Given the description of an element on the screen output the (x, y) to click on. 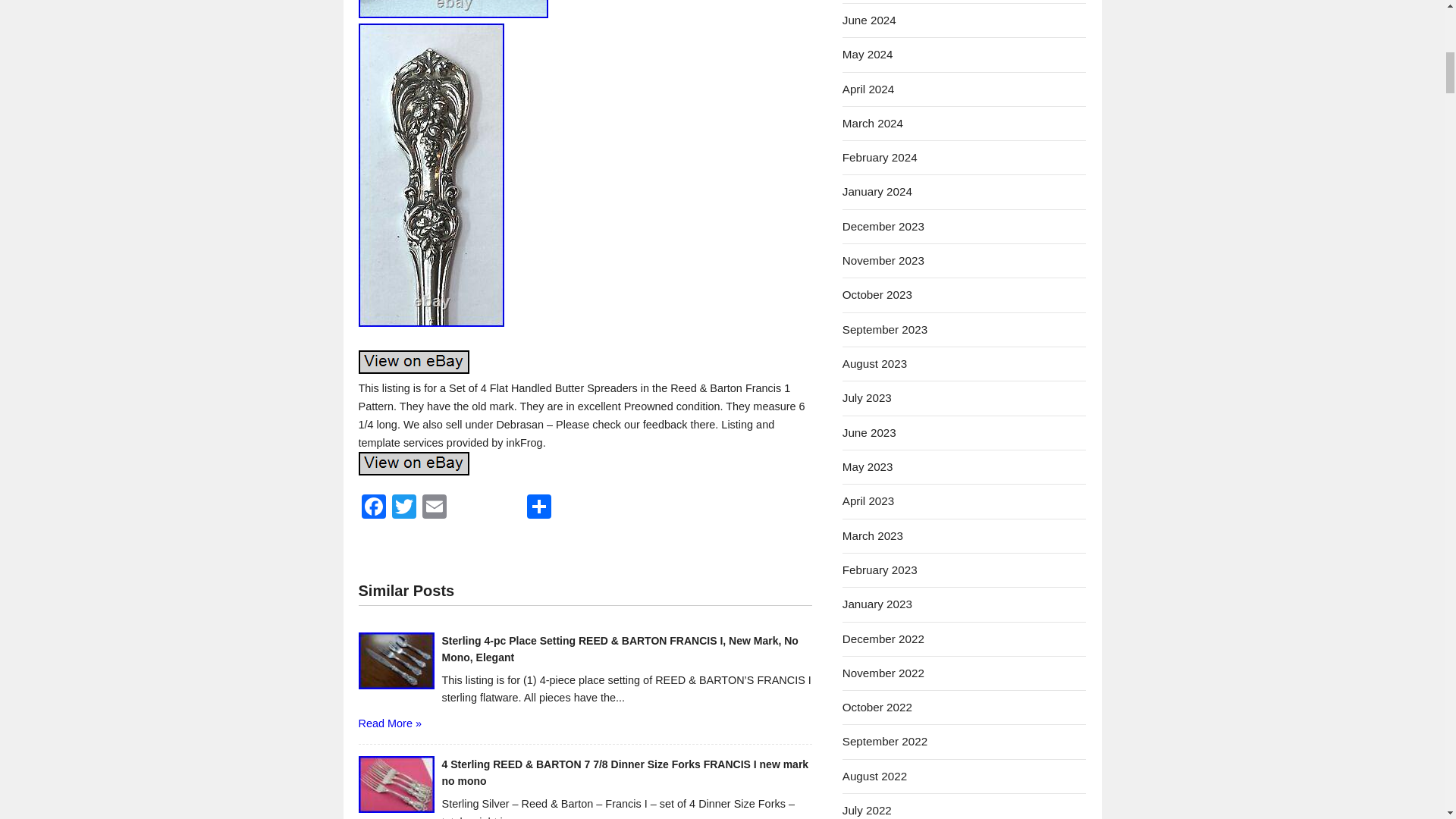
Facebook (373, 508)
Twitter (403, 508)
Email (433, 508)
Facebook (373, 508)
Twitter (403, 508)
Email (433, 508)
